Given the description of an element on the screen output the (x, y) to click on. 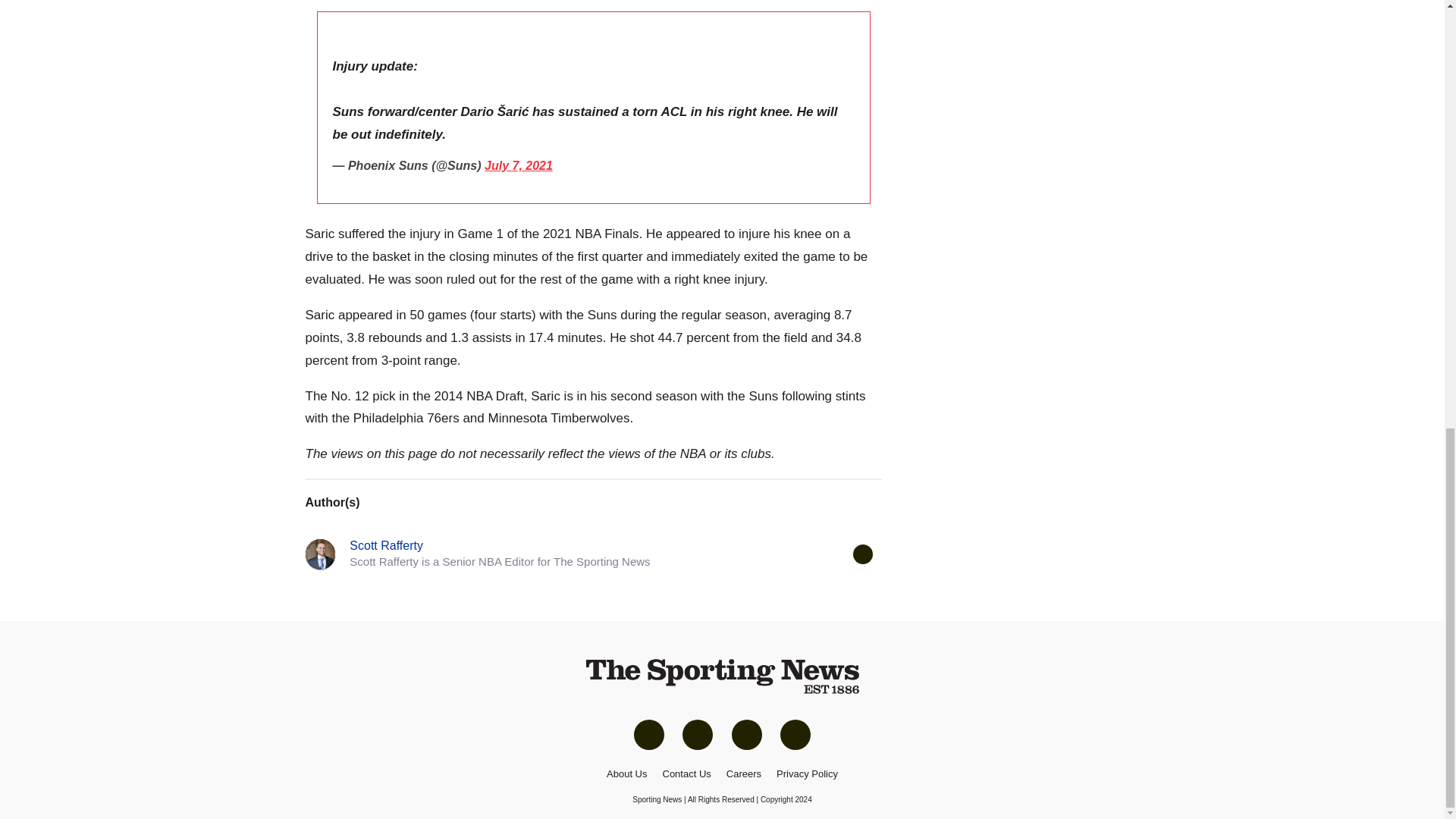
Open the author page on Twitter (861, 554)
